Given the description of an element on the screen output the (x, y) to click on. 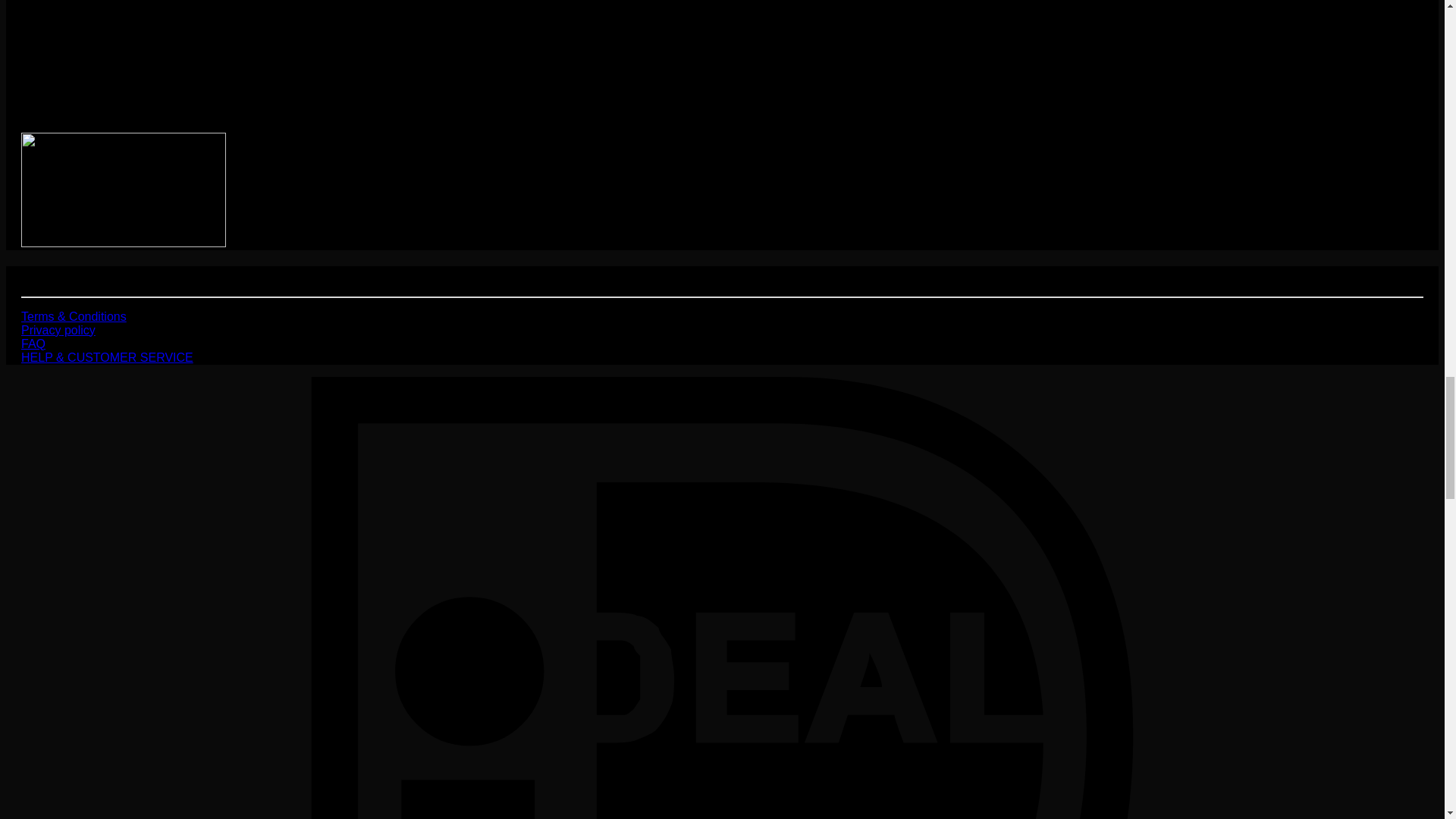
Privacy (41, 329)
FAQ (33, 343)
policy (77, 329)
